Given the description of an element on the screen output the (x, y) to click on. 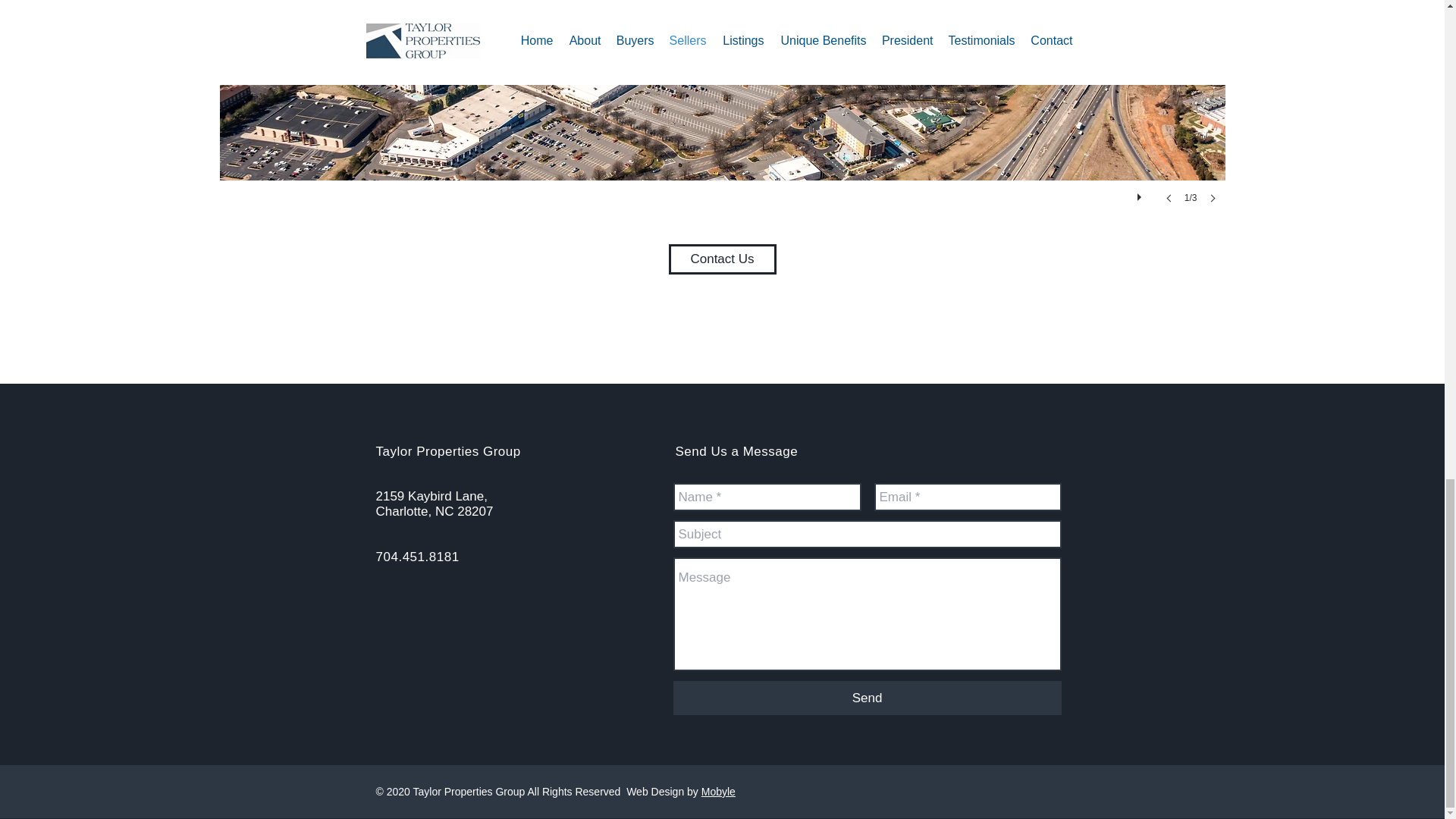
Taylor Properties Group (448, 451)
Send (866, 697)
Mobyle (718, 791)
